Given the description of an element on the screen output the (x, y) to click on. 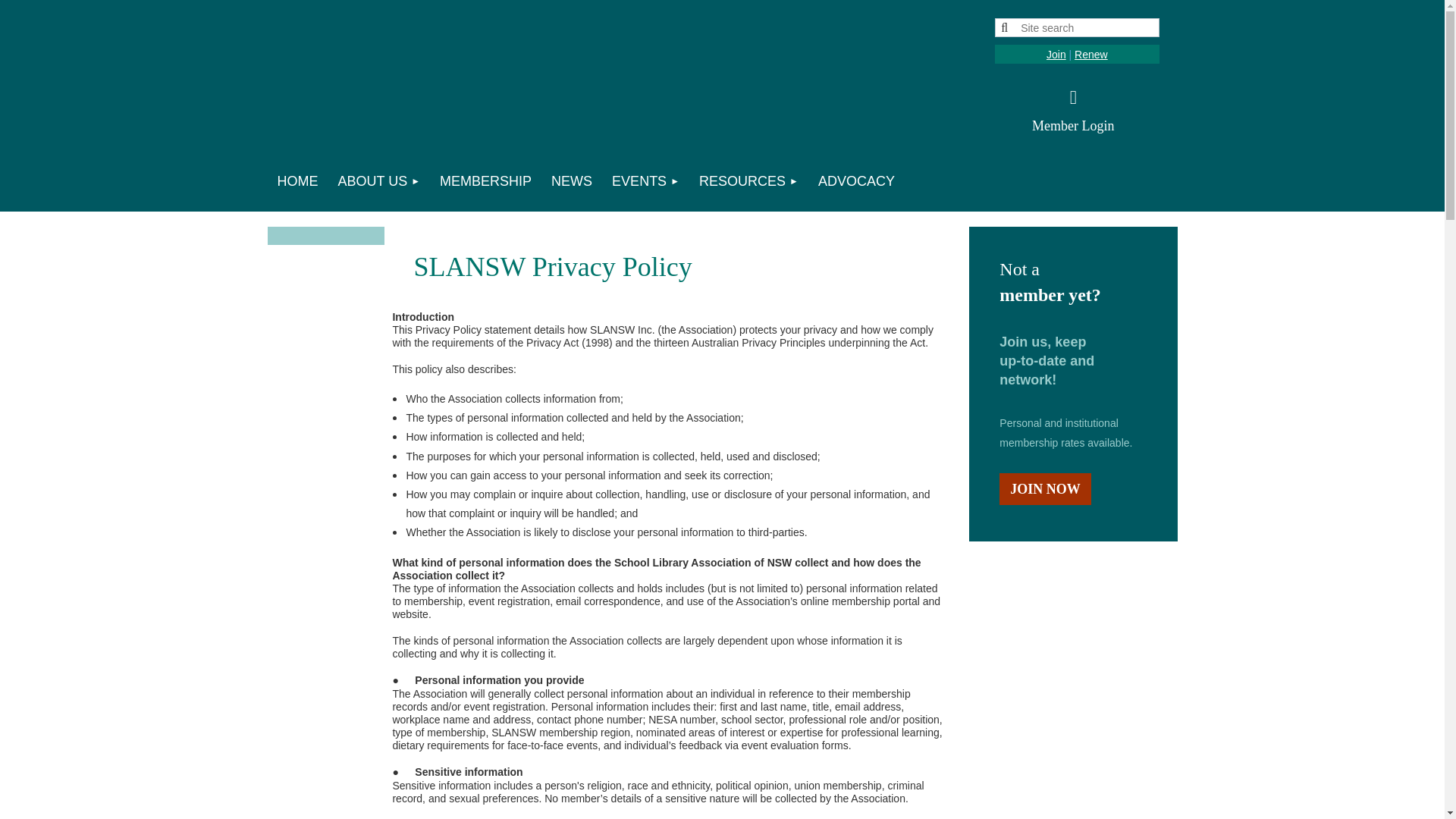
NEWS (571, 181)
ABOUT US (378, 181)
Log in (1073, 97)
Join (1055, 54)
Renew (1091, 54)
MEMBERSHIP (485, 181)
HOME (296, 181)
